Given the description of an element on the screen output the (x, y) to click on. 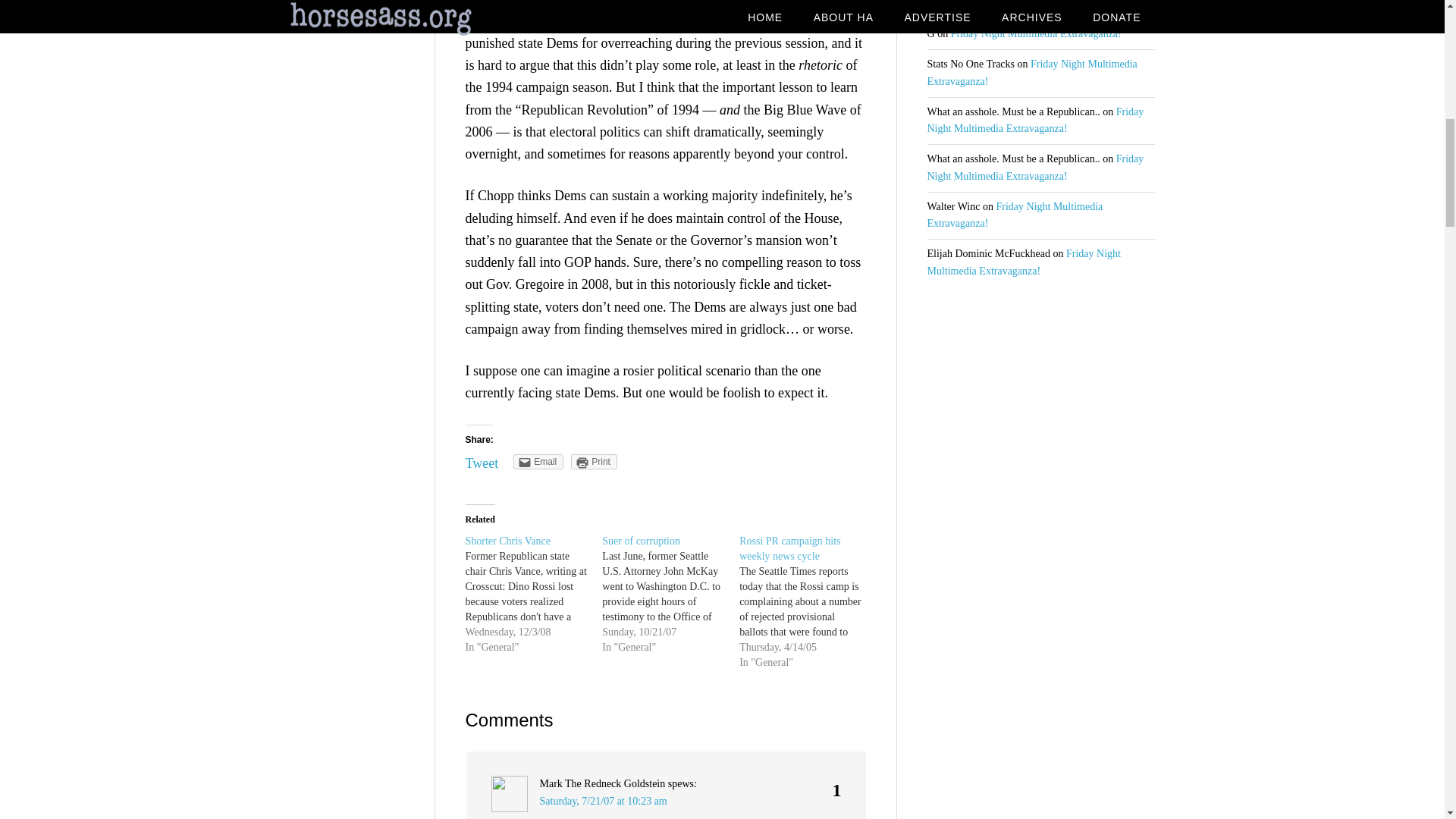
Tweet (482, 462)
Click to print (593, 461)
Shorter Chris Vance (508, 541)
Suer of corruption (670, 594)
Click to email a link to a friend (538, 461)
Rossi PR campaign hits weekly news cycle (789, 548)
Email (538, 461)
Shorter Chris Vance (533, 594)
Rossi PR campaign hits weekly news cycle (789, 548)
Rossi PR campaign hits weekly news cycle (807, 601)
